Given the description of an element on the screen output the (x, y) to click on. 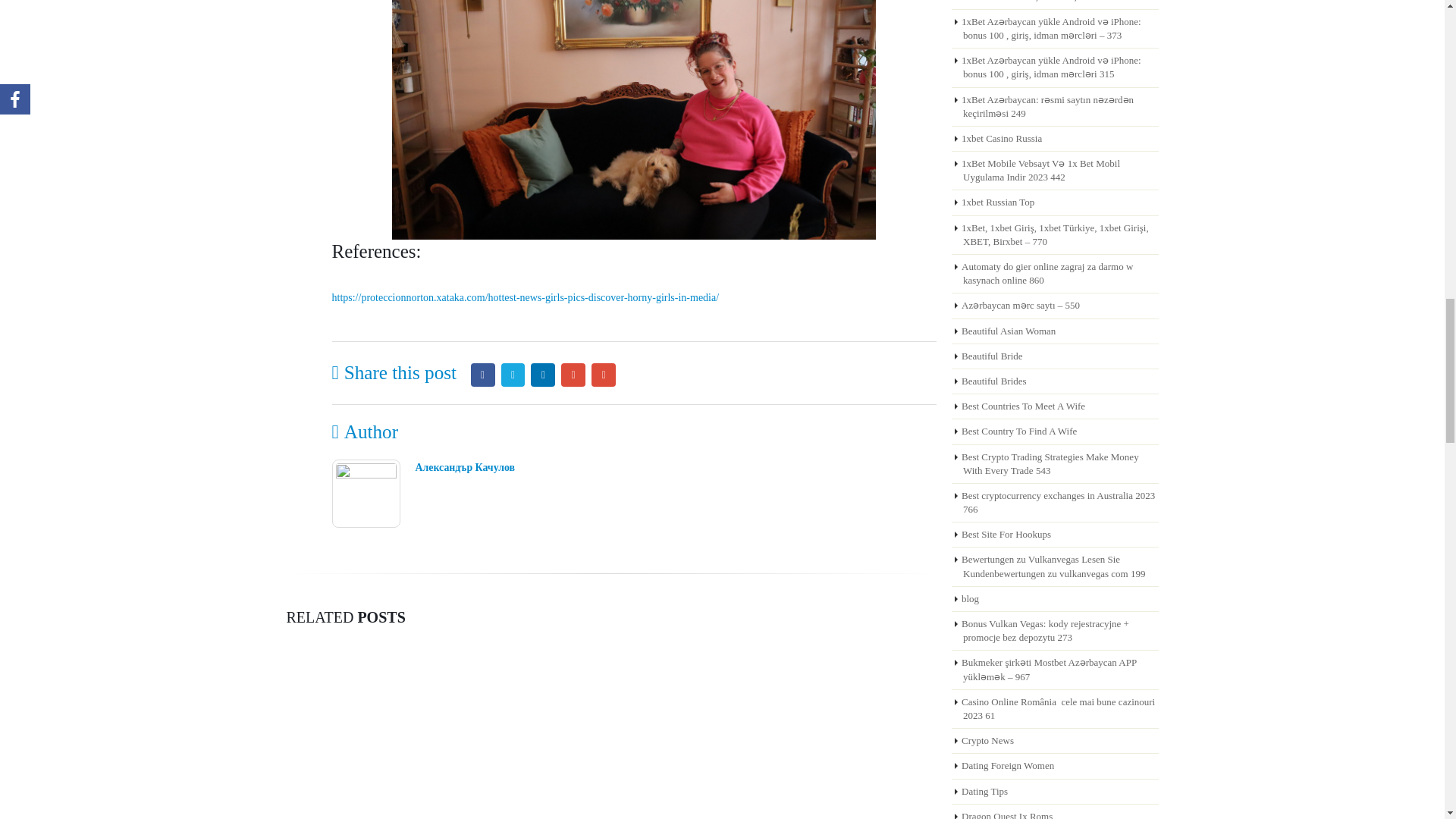
LinkedIn (542, 374)
Facebook (482, 374)
Twitter (512, 374)
Email (603, 374)
